Given the description of an element on the screen output the (x, y) to click on. 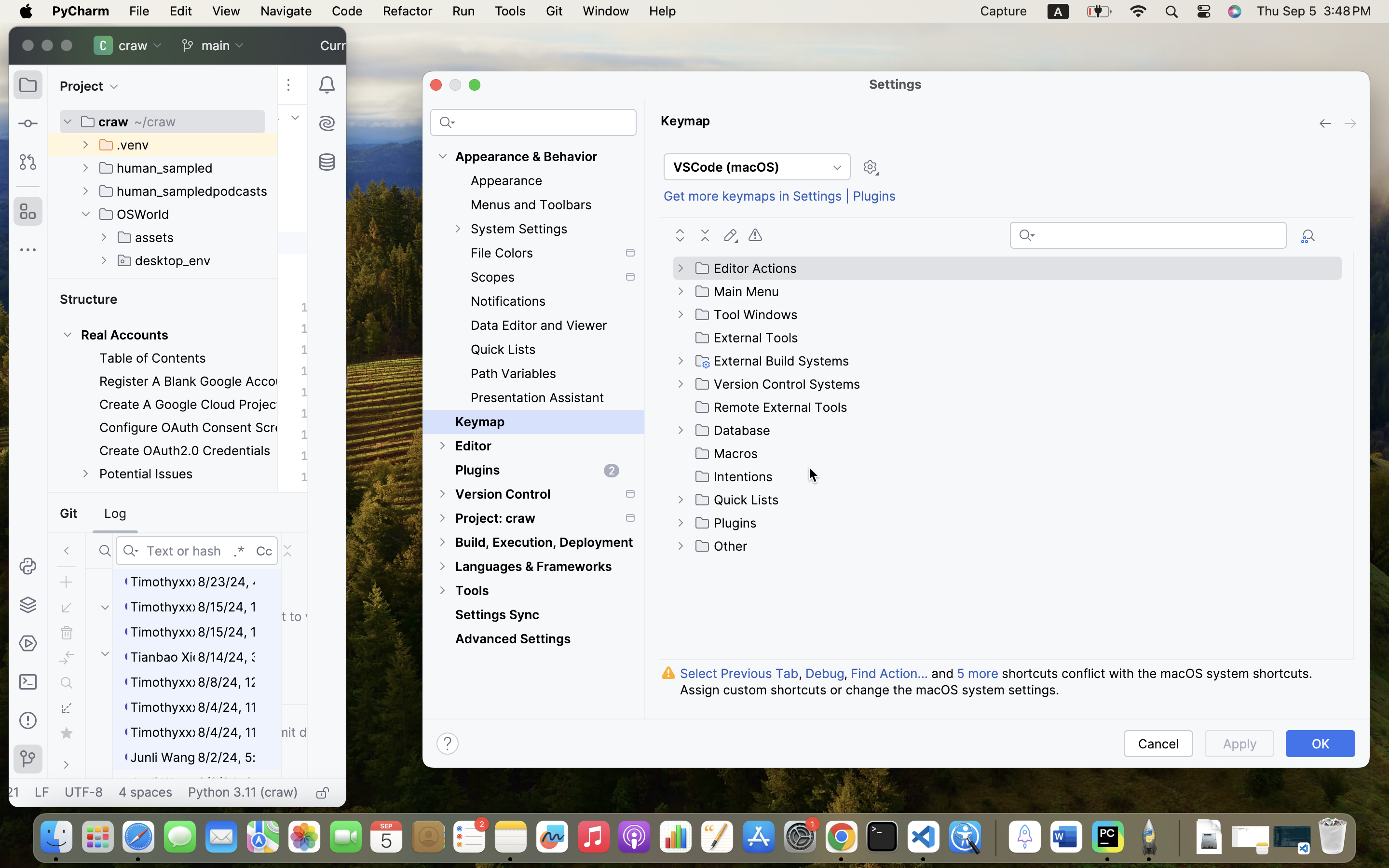
Select a scope to view or edit its details here Element type: AXStaticText (289, 289)
0.4285714328289032 Element type: AXDockItem (993, 837)
Quick Lists allow you to define commonly used groups of actions (for example, refactoring or VCS actions) and to assign keyboard shortcuts to such groups. Element type: AXStaticText (240, 276)
